Given the description of an element on the screen output the (x, y) to click on. 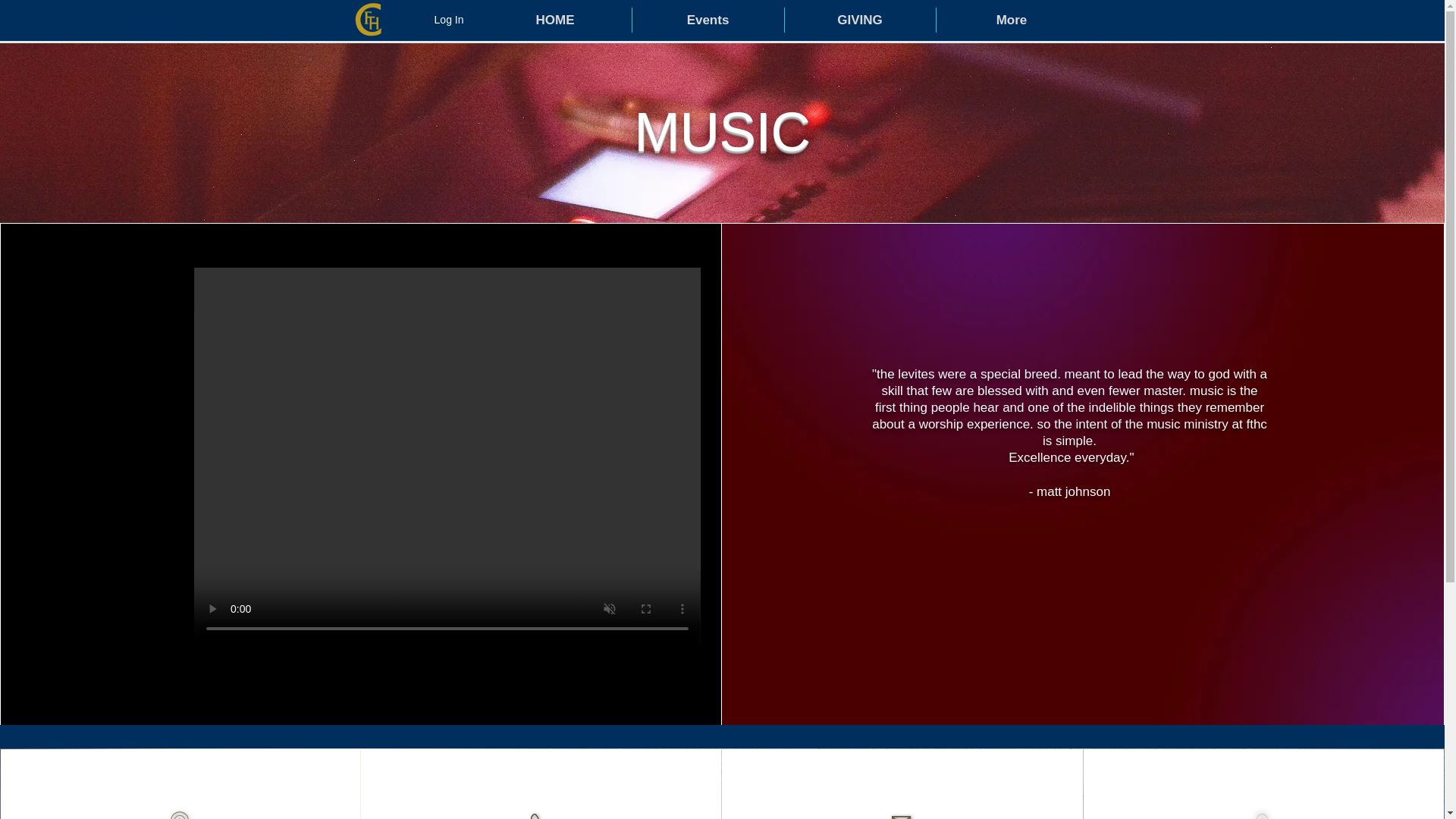
Events (707, 19)
LogoFinalTransp.png (367, 20)
Log In (433, 19)
GIVING (859, 19)
HOME (555, 19)
